Given the description of an element on the screen output the (x, y) to click on. 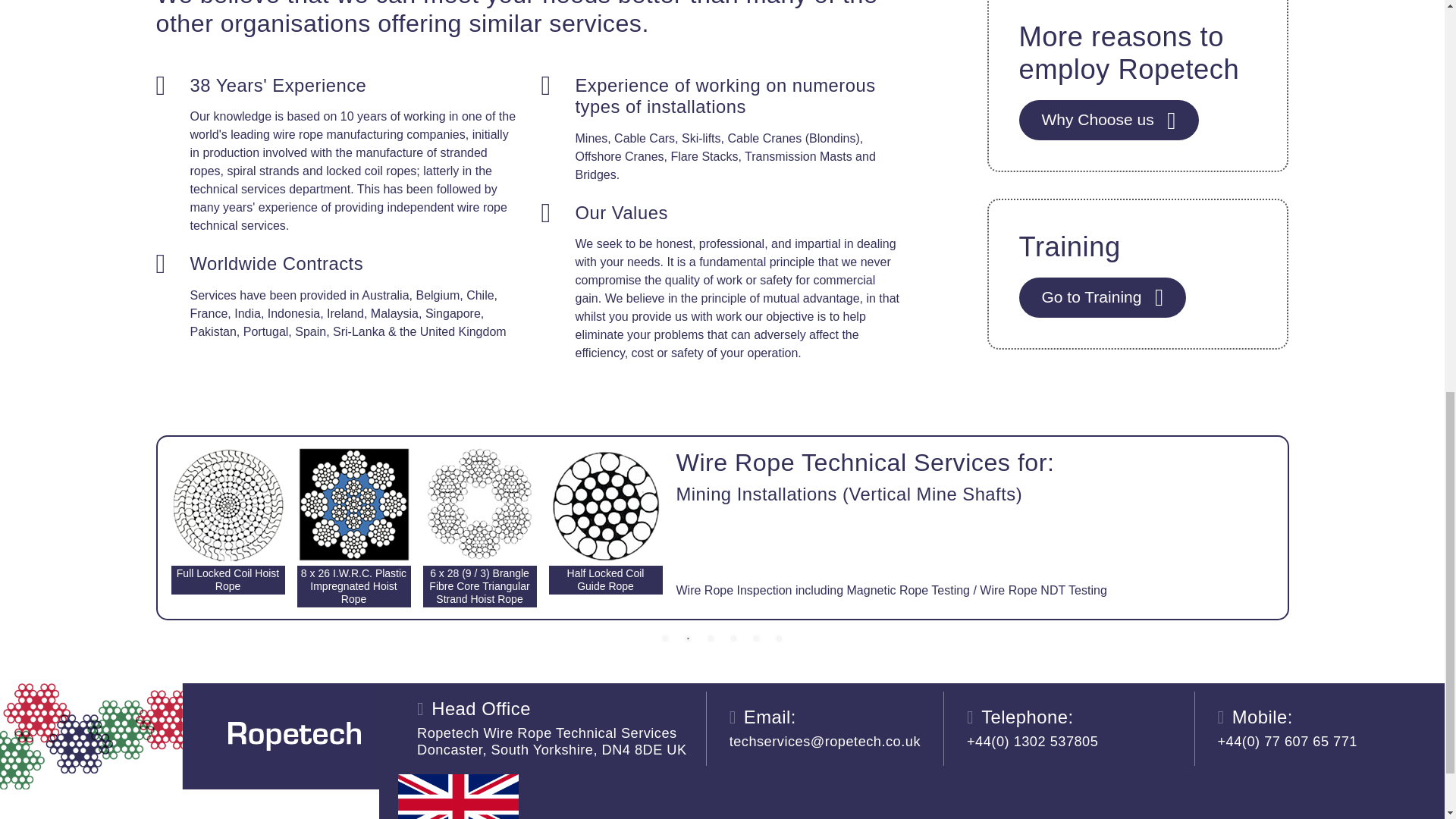
Go to Training   (1102, 297)
2 (688, 639)
1 (665, 639)
4 (733, 639)
3 (711, 639)
6 (779, 639)
5 (756, 639)
Why Choose us   (1108, 119)
